Given the description of an element on the screen output the (x, y) to click on. 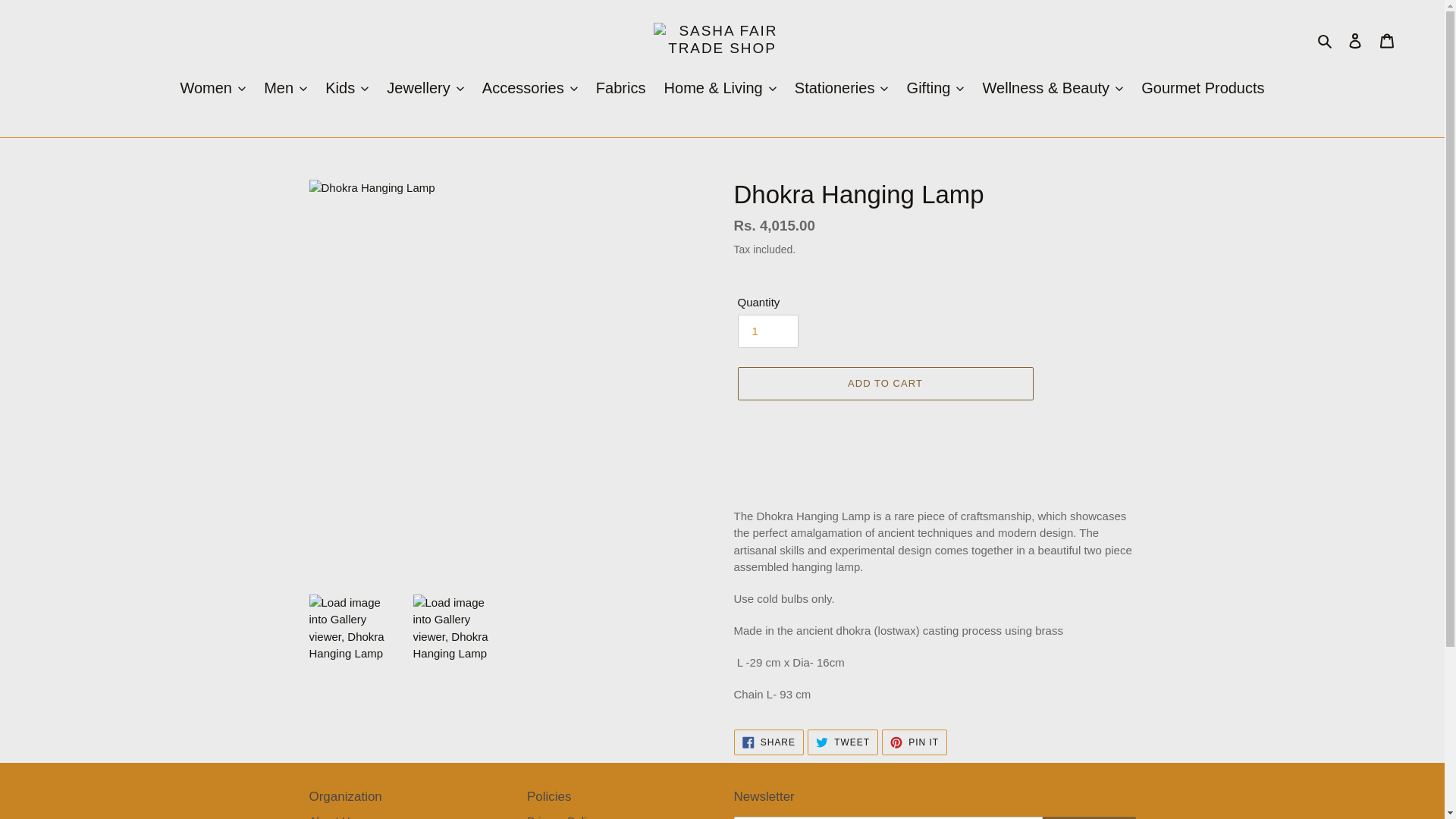
1 (766, 331)
Cart (1387, 40)
Search (1326, 40)
Log in (1355, 40)
